Given the description of an element on the screen output the (x, y) to click on. 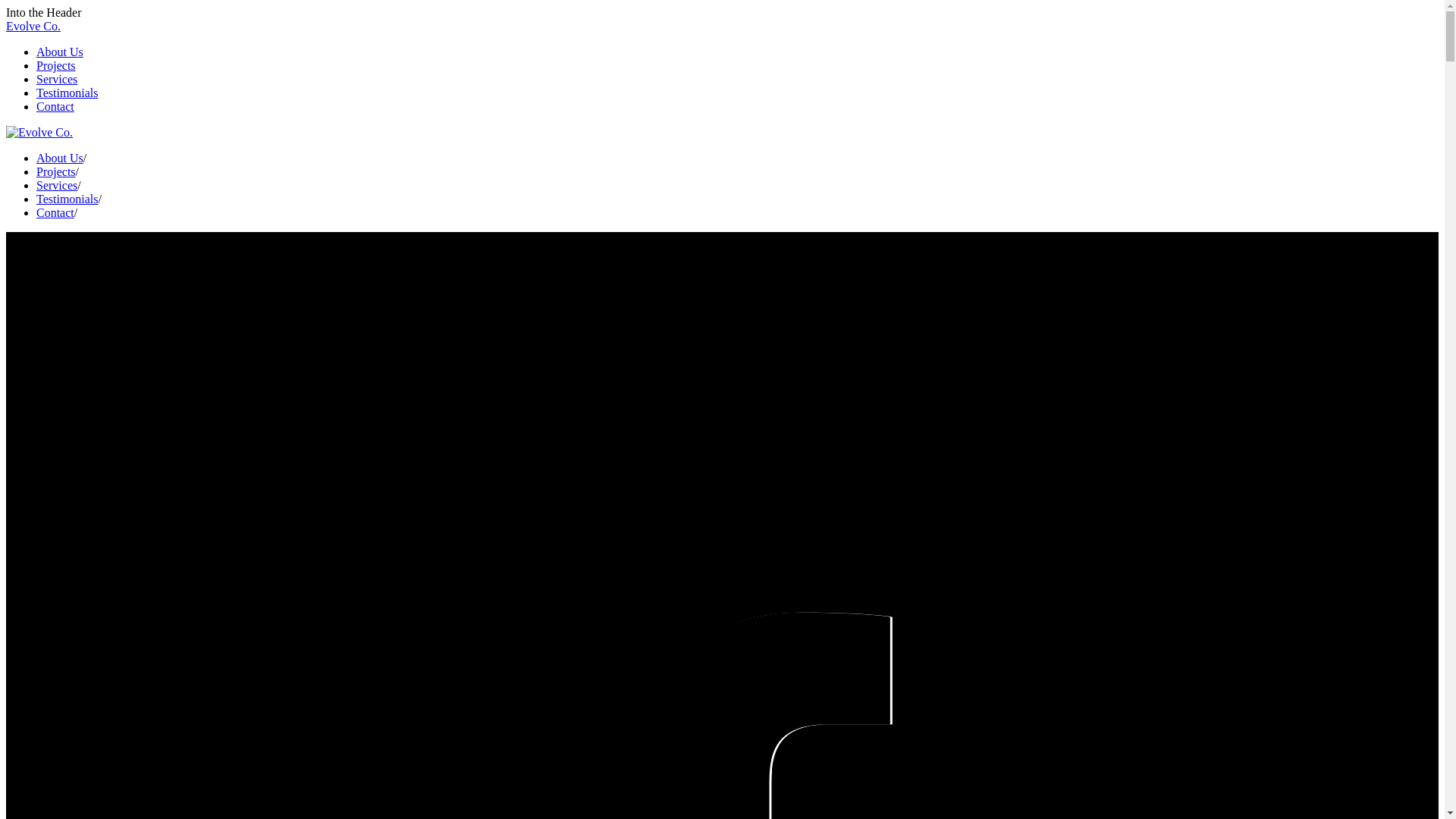
Services Element type: text (56, 78)
Evolve Co. Element type: text (33, 25)
Projects Element type: text (55, 65)
Services Element type: text (56, 184)
Contact Element type: text (55, 106)
Projects Element type: text (55, 171)
Testimonials Element type: text (67, 198)
Testimonials Element type: text (67, 92)
About Us Element type: text (59, 51)
Contact Element type: text (55, 212)
About Us Element type: text (59, 157)
